Given the description of an element on the screen output the (x, y) to click on. 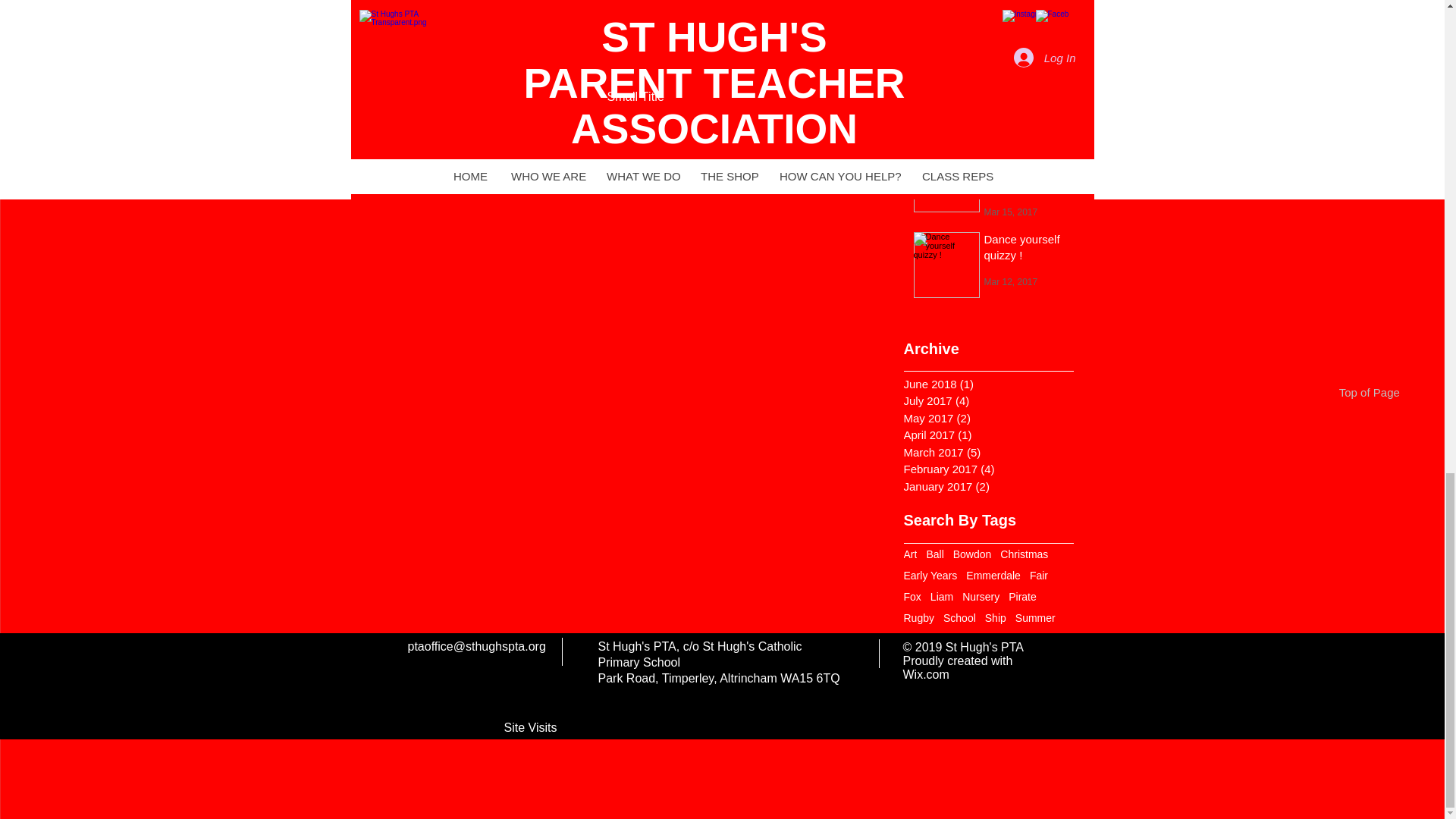
Free child entrance to Altrincham FC 18th March 3pm (1027, 172)
Early Years (931, 575)
Ball (934, 553)
Art (910, 553)
Mar 15, 2017 (1011, 211)
Dance yourself quizzy ! (1027, 249)
Christmas (1024, 553)
Apr 14, 2017 (1010, 109)
Summer Fair Survey launched (1027, 77)
Bowdon (972, 553)
May 8, 2017 (1008, 24)
Summer Ball - only 3 tables left! (1027, 6)
Mar 12, 2017 (1011, 281)
